Given the description of an element on the screen output the (x, y) to click on. 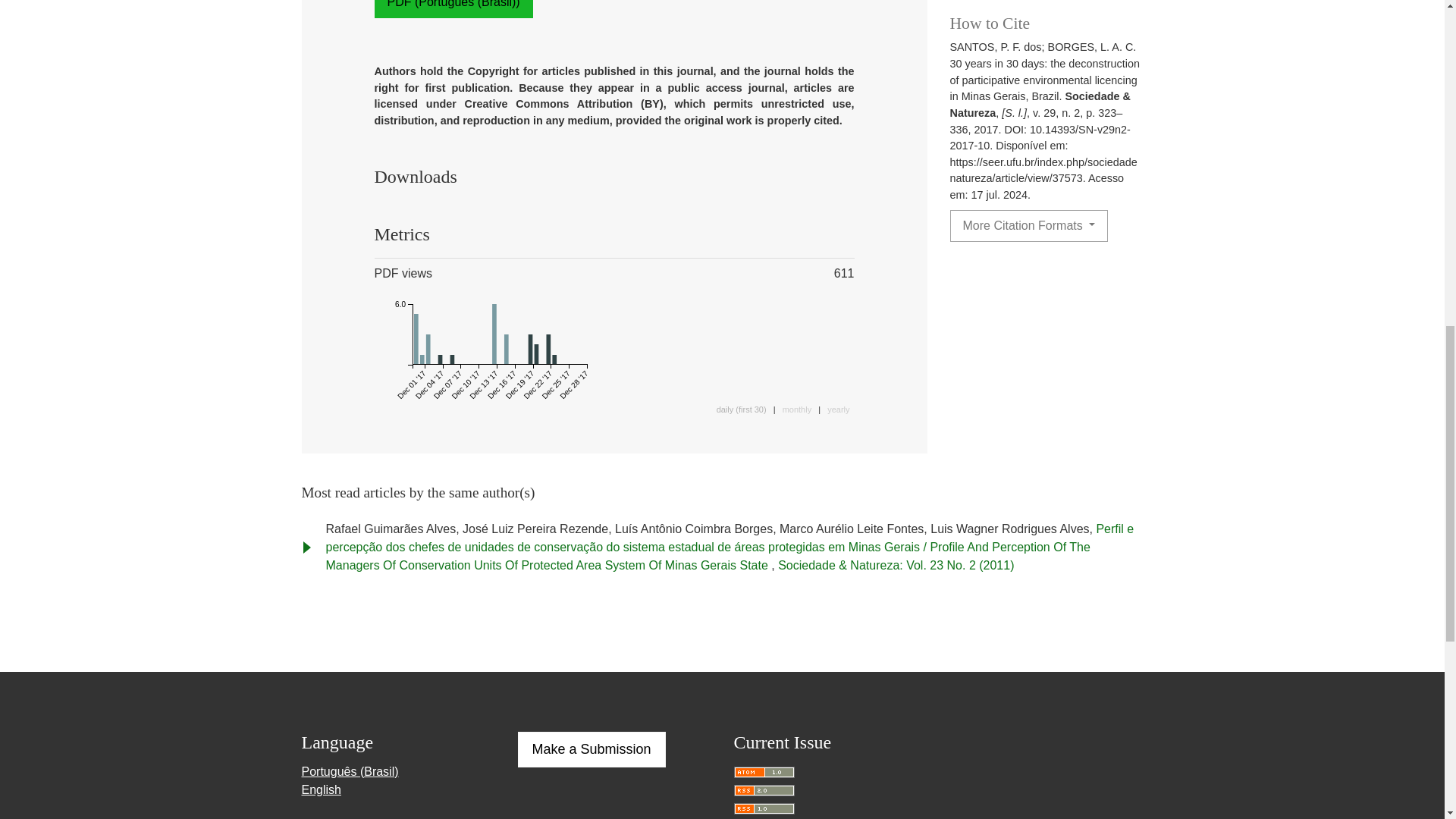
More Citation Formats (1028, 225)
